Given the description of an element on the screen output the (x, y) to click on. 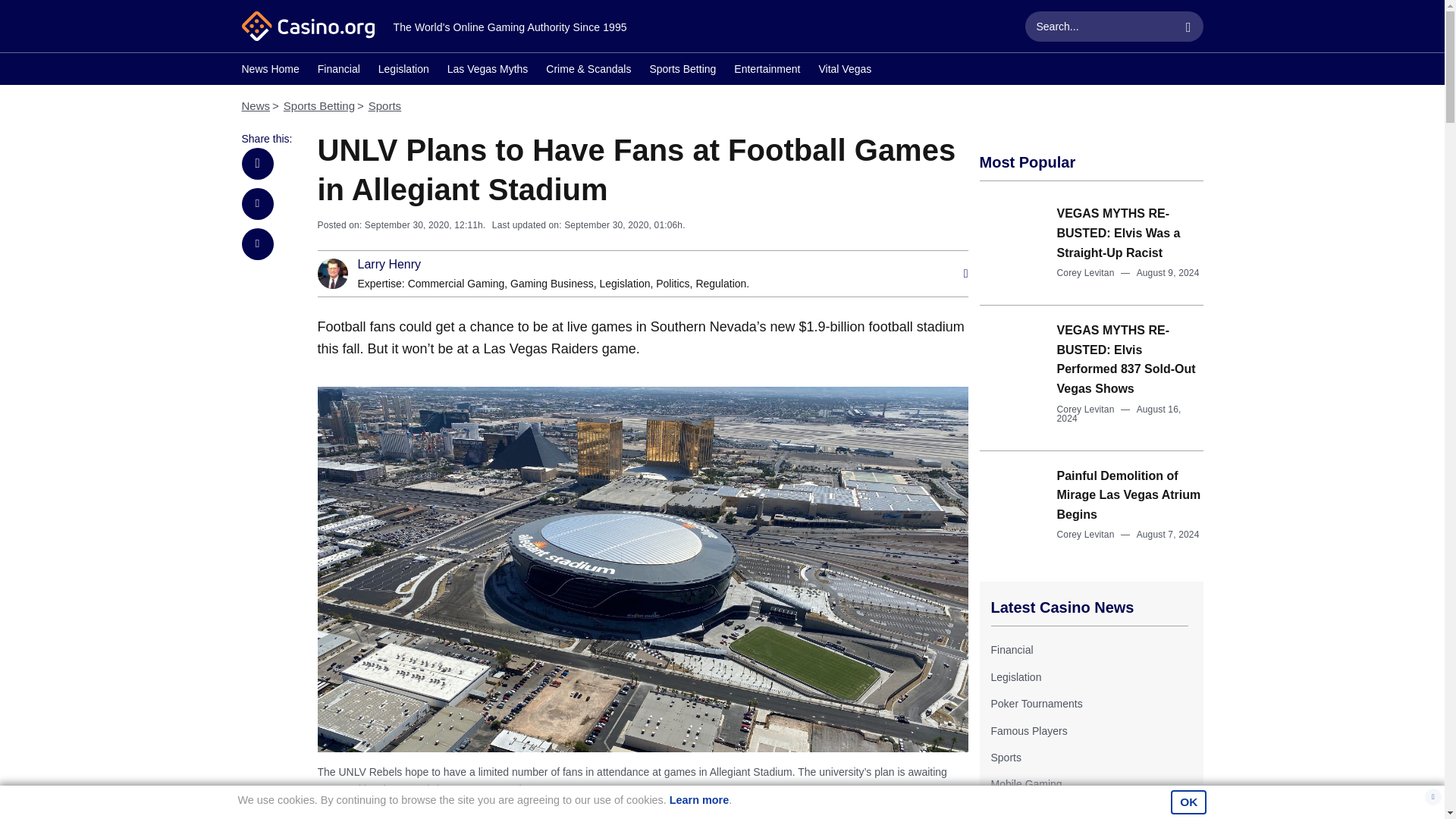
Legislation (624, 283)
Commercial Gaming (456, 283)
Larry Henry (390, 264)
Corey Levitan (1086, 272)
Vital Vegas (845, 70)
Sports (384, 105)
Sports Betting (319, 105)
Famous Players (1028, 730)
Sports (1005, 757)
Financial (1011, 649)
